Given the description of an element on the screen output the (x, y) to click on. 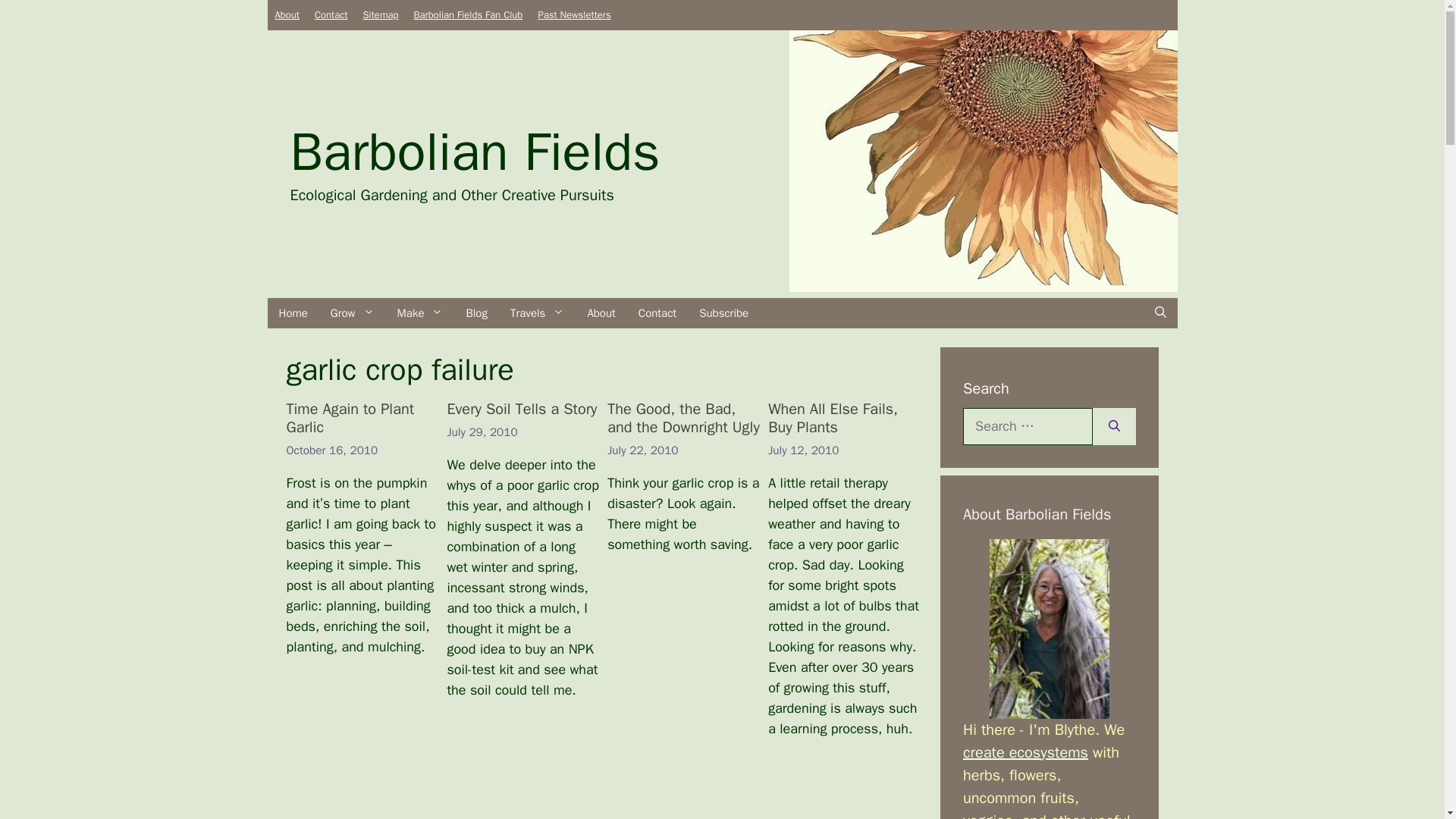
Sunflower sunshine (982, 160)
Past Newsletters (573, 14)
Contact (330, 14)
Sitemap (380, 14)
Contact (330, 14)
Blog (475, 312)
About (286, 14)
Travels (537, 312)
Make (419, 312)
Home (292, 312)
